Given the description of an element on the screen output the (x, y) to click on. 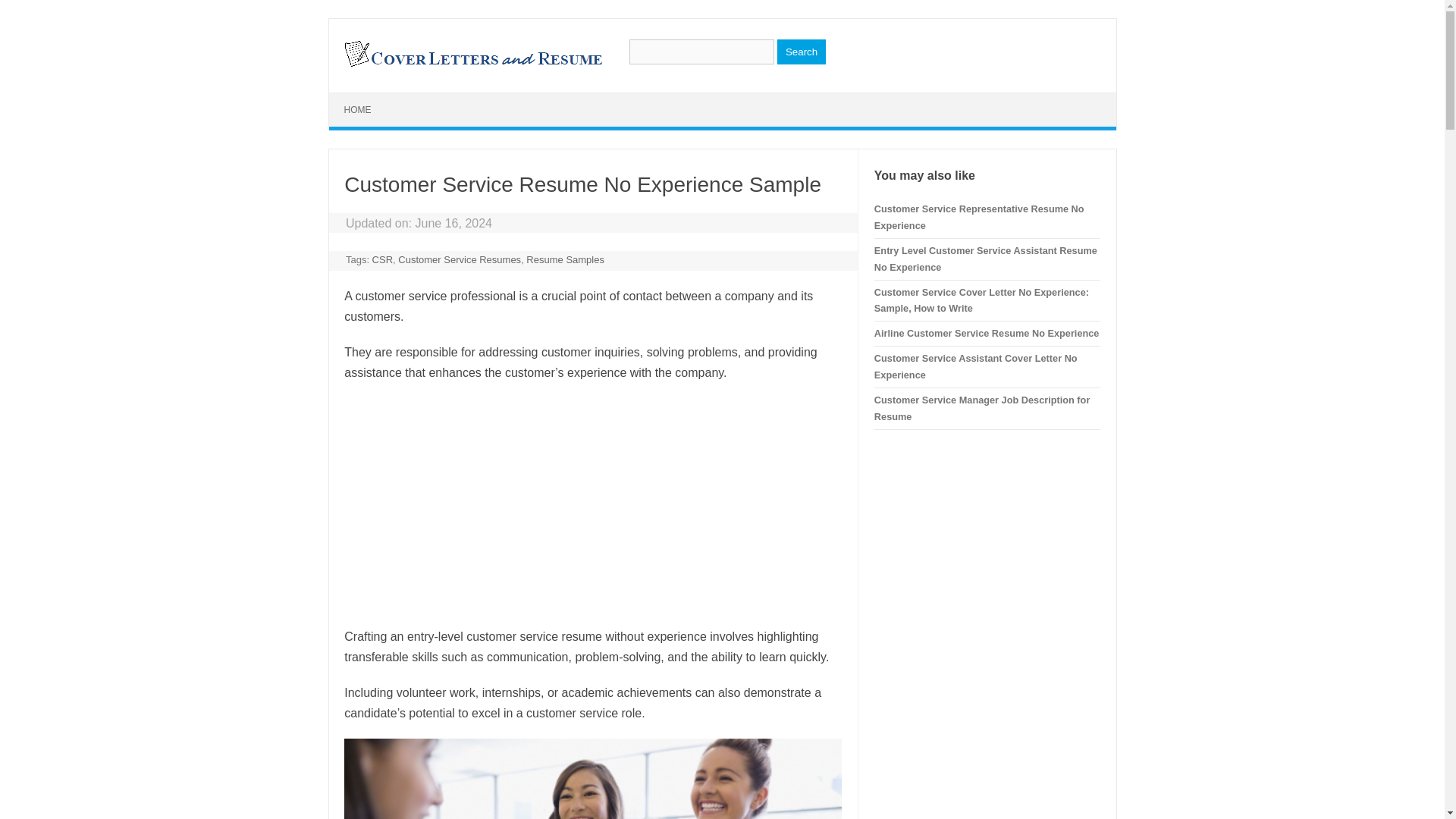
Resume Samples (564, 259)
Customer Service Manager Job Description for Resume (982, 407)
Airline Customer Service Resume No Experience (987, 333)
Customer Service Assistant Cover Letter No Experience (976, 366)
Search (801, 51)
CSR (382, 259)
Customer Service Representative Resume No Experience (979, 216)
Customer Service Resumes (459, 259)
Search (801, 51)
Cover Letters and Resume Samples (471, 65)
Entry Level Customer Service Assistant Resume No Experience (986, 258)
HOME (358, 109)
